Given the description of an element on the screen output the (x, y) to click on. 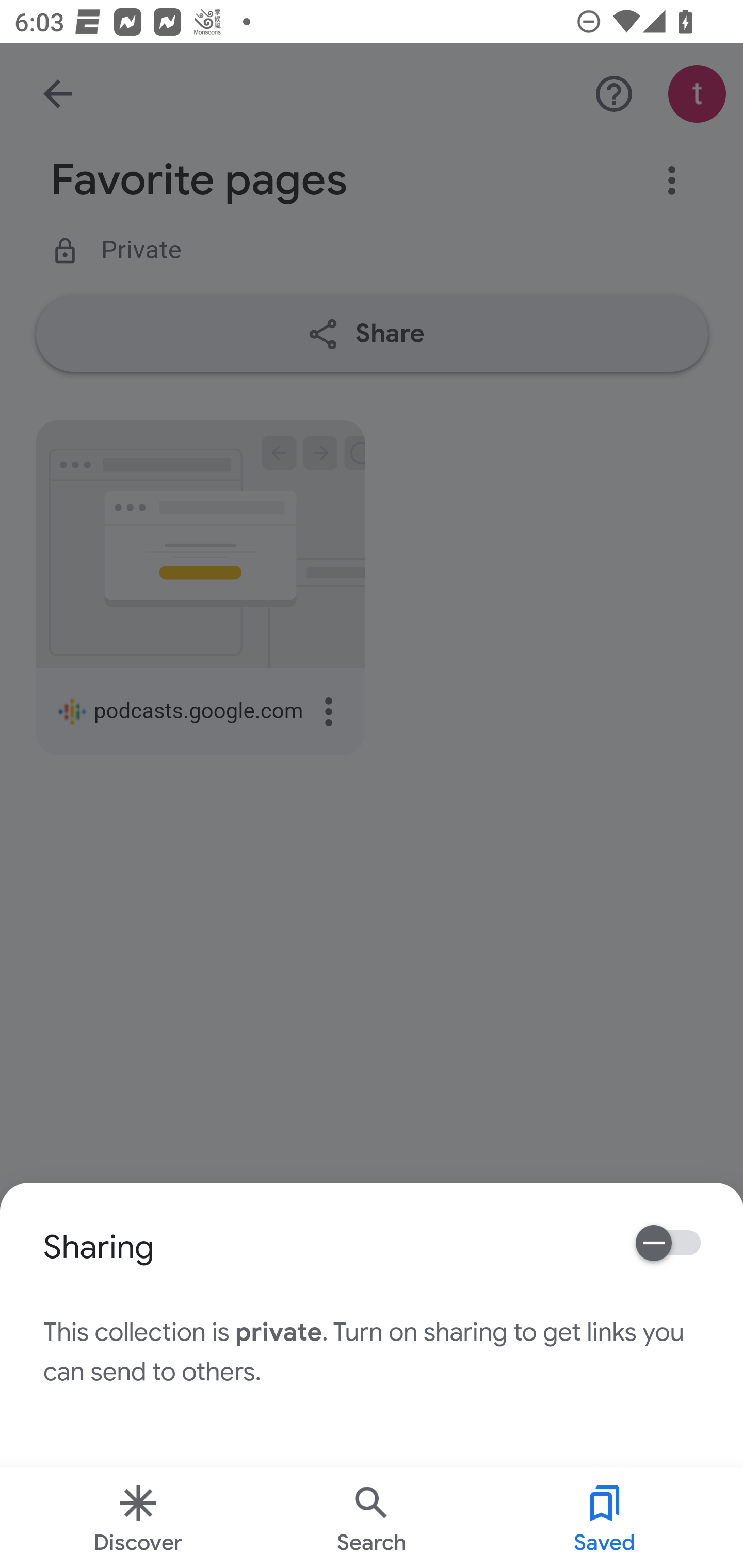
Sharing (669, 1242)
Discover (137, 1517)
Search (371, 1517)
